Given the description of an element on the screen output the (x, y) to click on. 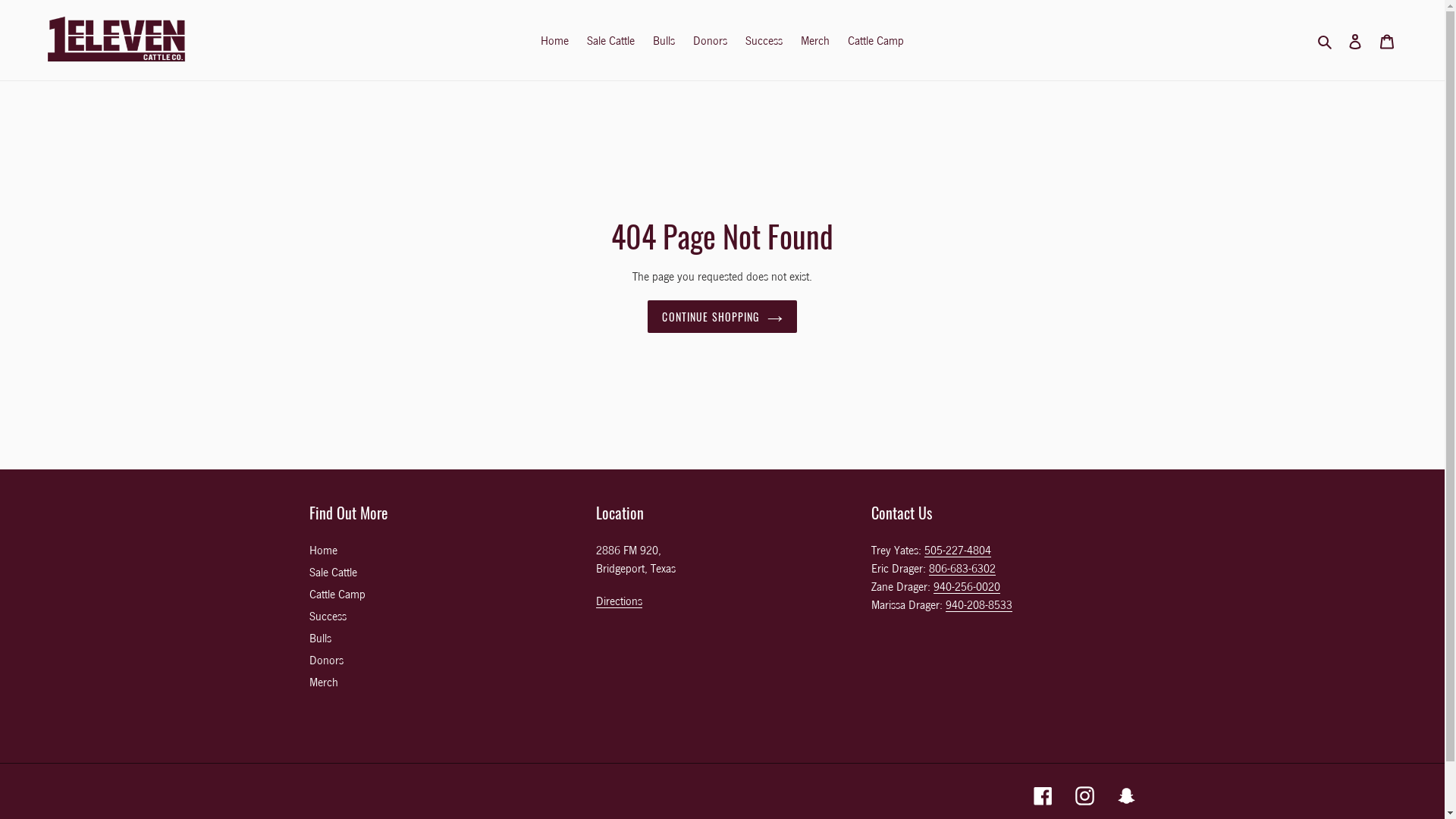
Cart Element type: text (1386, 39)
Directions Element type: text (619, 600)
940-256-0020 Element type: text (966, 586)
Donors Element type: text (326, 659)
Log in Element type: text (1355, 39)
Facebook Element type: text (1041, 794)
Sale Cattle Element type: text (610, 39)
Sale Cattle Element type: text (333, 571)
Merch Element type: text (815, 39)
CONTINUE SHOPPING Element type: text (721, 316)
Success Element type: text (763, 39)
Bulls Element type: text (663, 39)
505-227-4804 Element type: text (957, 549)
Snapchat Element type: text (1125, 794)
Home Element type: text (323, 549)
806-683-6302 Element type: text (961, 568)
Cattle Camp Element type: text (337, 593)
940-208-8533 Element type: text (978, 604)
Donors Element type: text (709, 39)
Home Element type: text (554, 39)
Bulls Element type: text (320, 637)
Instagram Element type: text (1084, 794)
Cattle Camp Element type: text (875, 39)
Search Element type: text (1325, 40)
Success Element type: text (327, 615)
Merch Element type: text (323, 681)
